Given the description of an element on the screen output the (x, y) to click on. 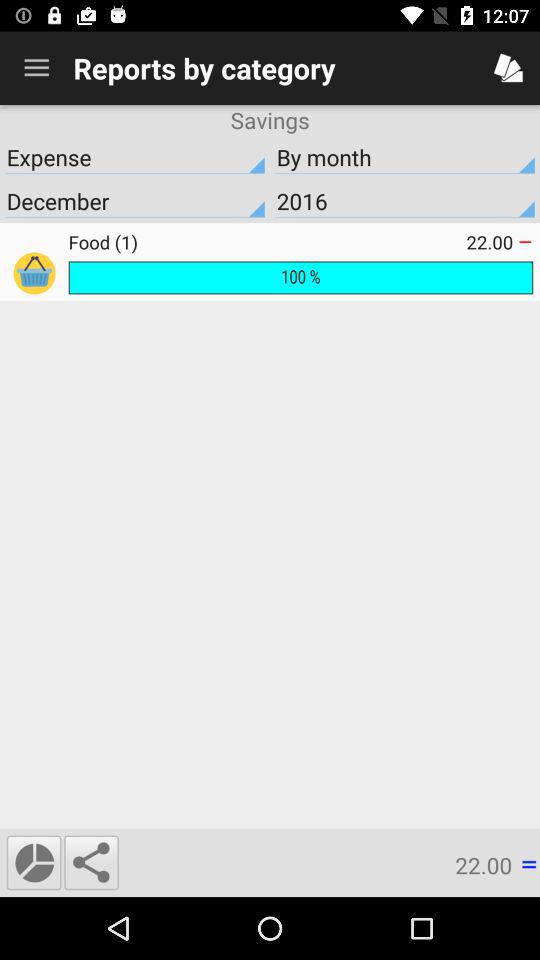
open the icon to the left of the reports by category item (36, 68)
